Given the description of an element on the screen output the (x, y) to click on. 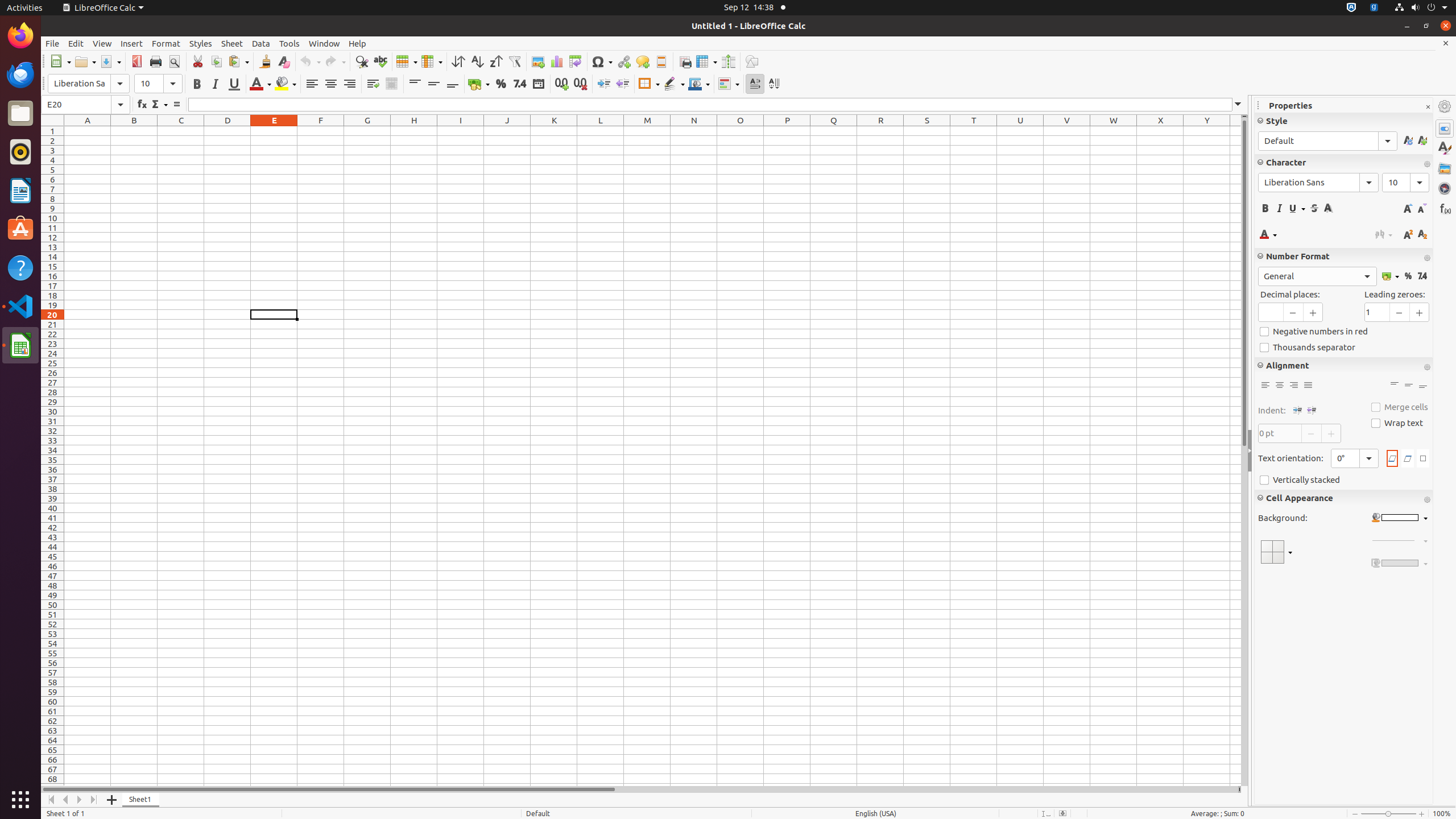
Align Center Element type: push-button (330, 83)
File Element type: menu (51, 43)
LibreOffice Calc Element type: menu (102, 7)
Add Decimal Place Element type: push-button (561, 83)
Close Sidebar Deck Element type: push-button (1427, 106)
